Given the description of an element on the screen output the (x, y) to click on. 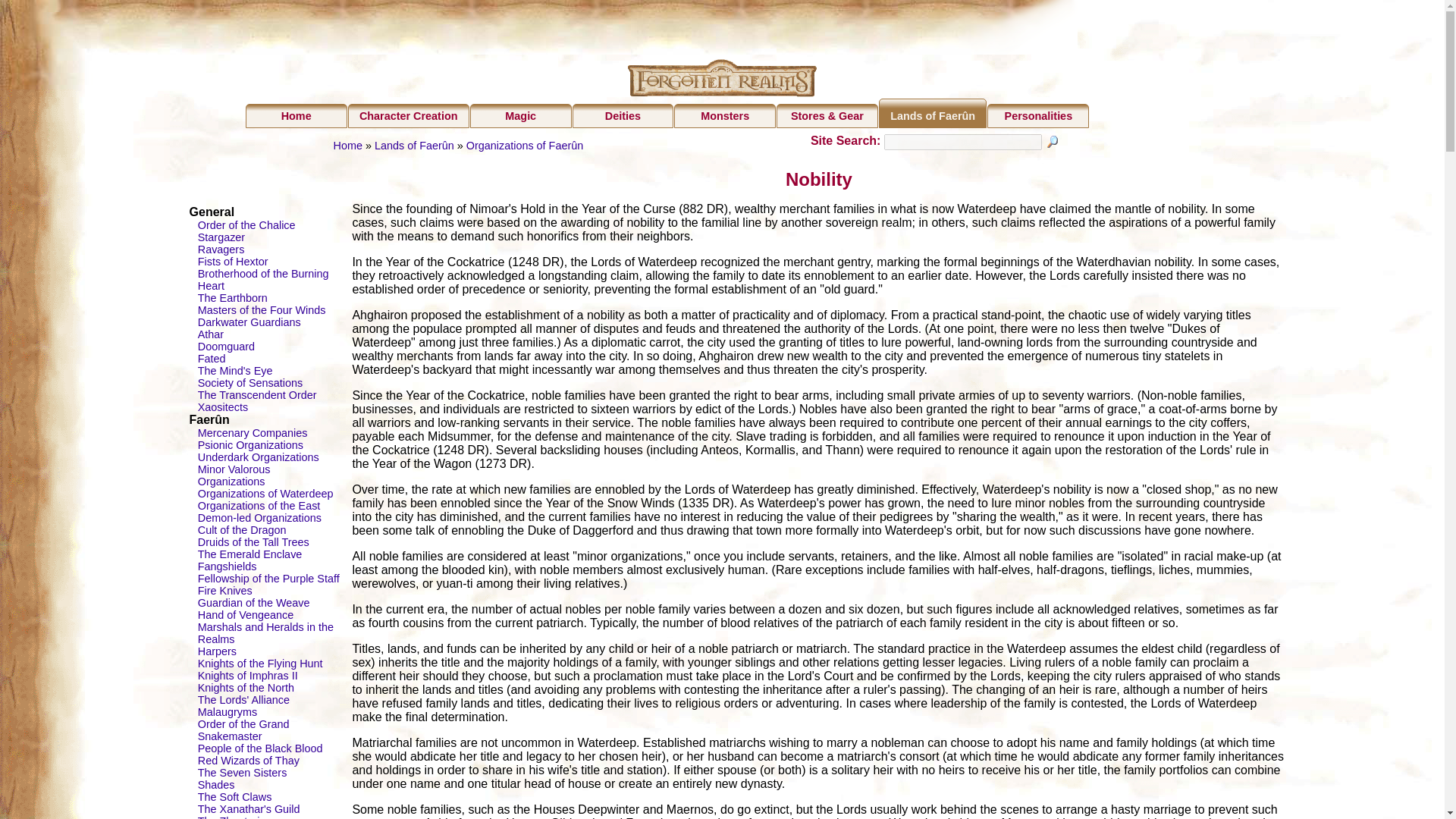
Stargazer (221, 236)
Cult of the Dragon (242, 530)
The Emerald Enclave (250, 553)
Xaositects (222, 407)
Fists of Hextor (232, 261)
Fire Knives (224, 590)
Doomguard (226, 346)
Darkwater Guardians (249, 322)
The Earthborn (232, 297)
Athar (211, 334)
Psionic Organizations (250, 444)
Druids of the Tall Trees (253, 541)
Society of Sensations (250, 382)
Monsters (725, 115)
Deities (623, 115)
